Given the description of an element on the screen output the (x, y) to click on. 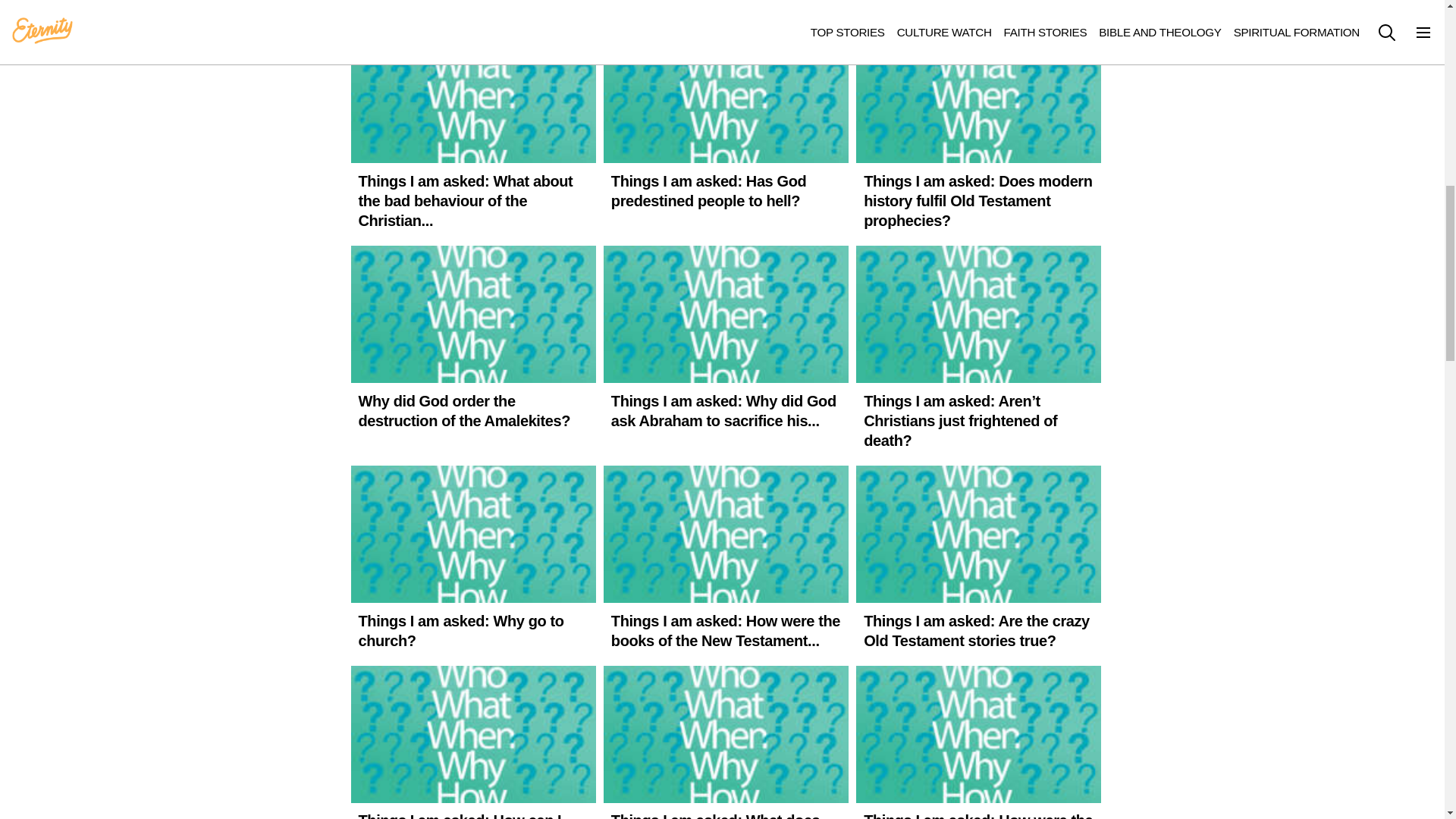
Things I am asked: Has God predestined people to hell? (726, 121)
Things I am asked: What does healthy grief look like? (726, 742)
Things I am asked: Why go to church? (472, 562)
Why did God order the destruction of the Amalekites? (472, 341)
Things I am asked: Are the crazy Old Testament stories true? (978, 562)
Things I am asked: How can I overcome temptation? (472, 742)
